Given the description of an element on the screen output the (x, y) to click on. 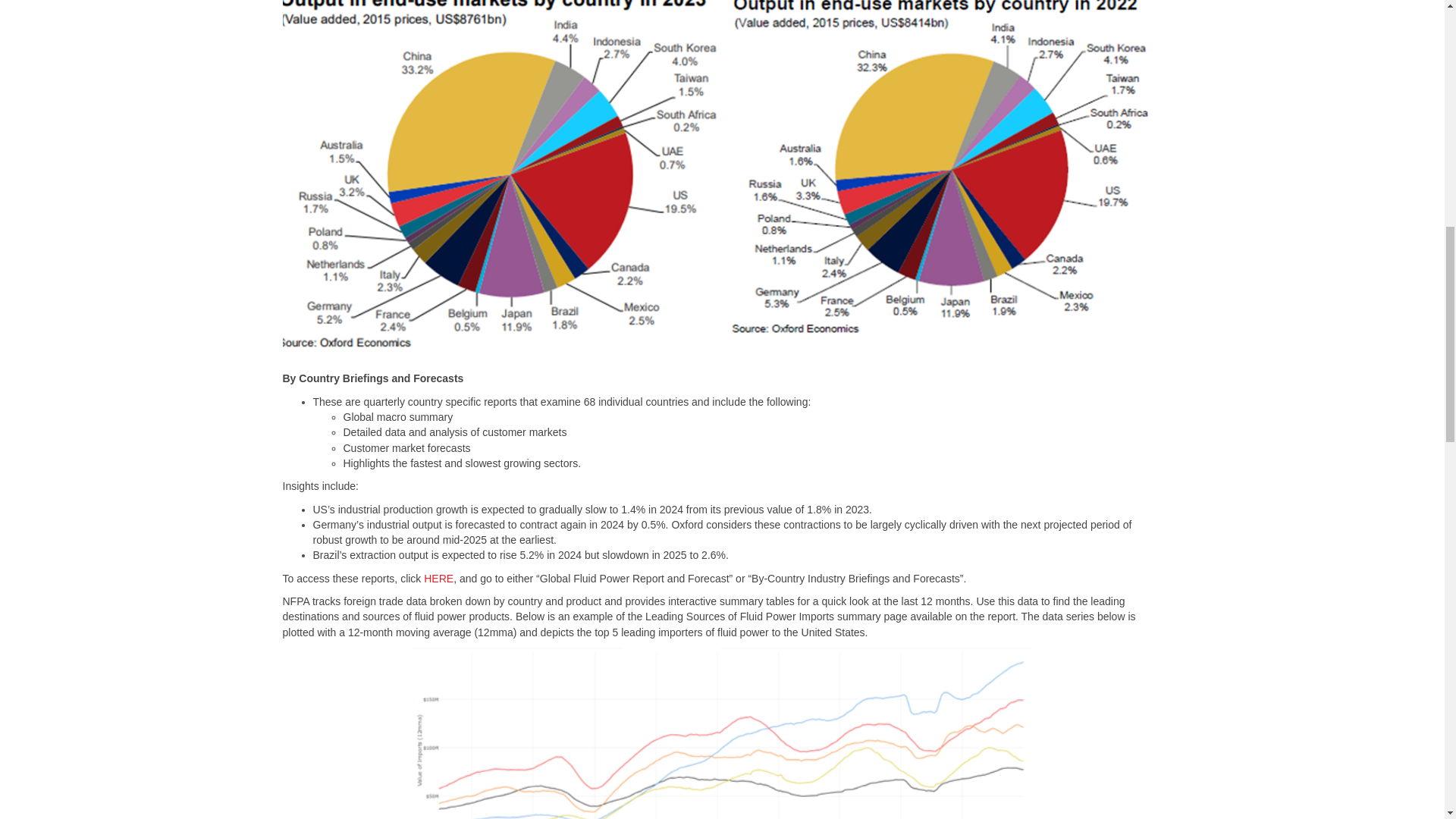
HERE (437, 578)
